Given the description of an element on the screen output the (x, y) to click on. 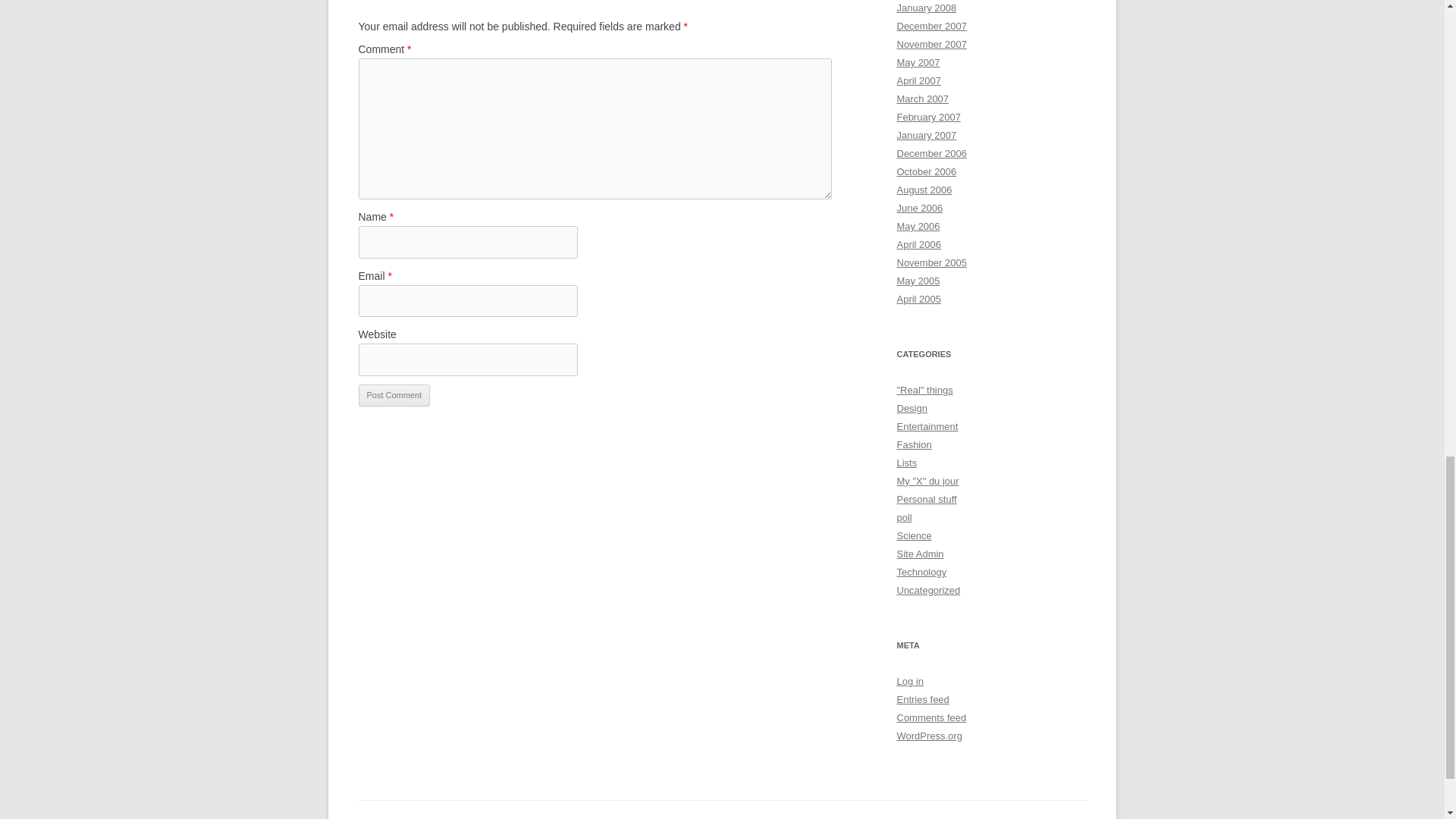
Post Comment (393, 395)
Post Comment (393, 395)
